Given the description of an element on the screen output the (x, y) to click on. 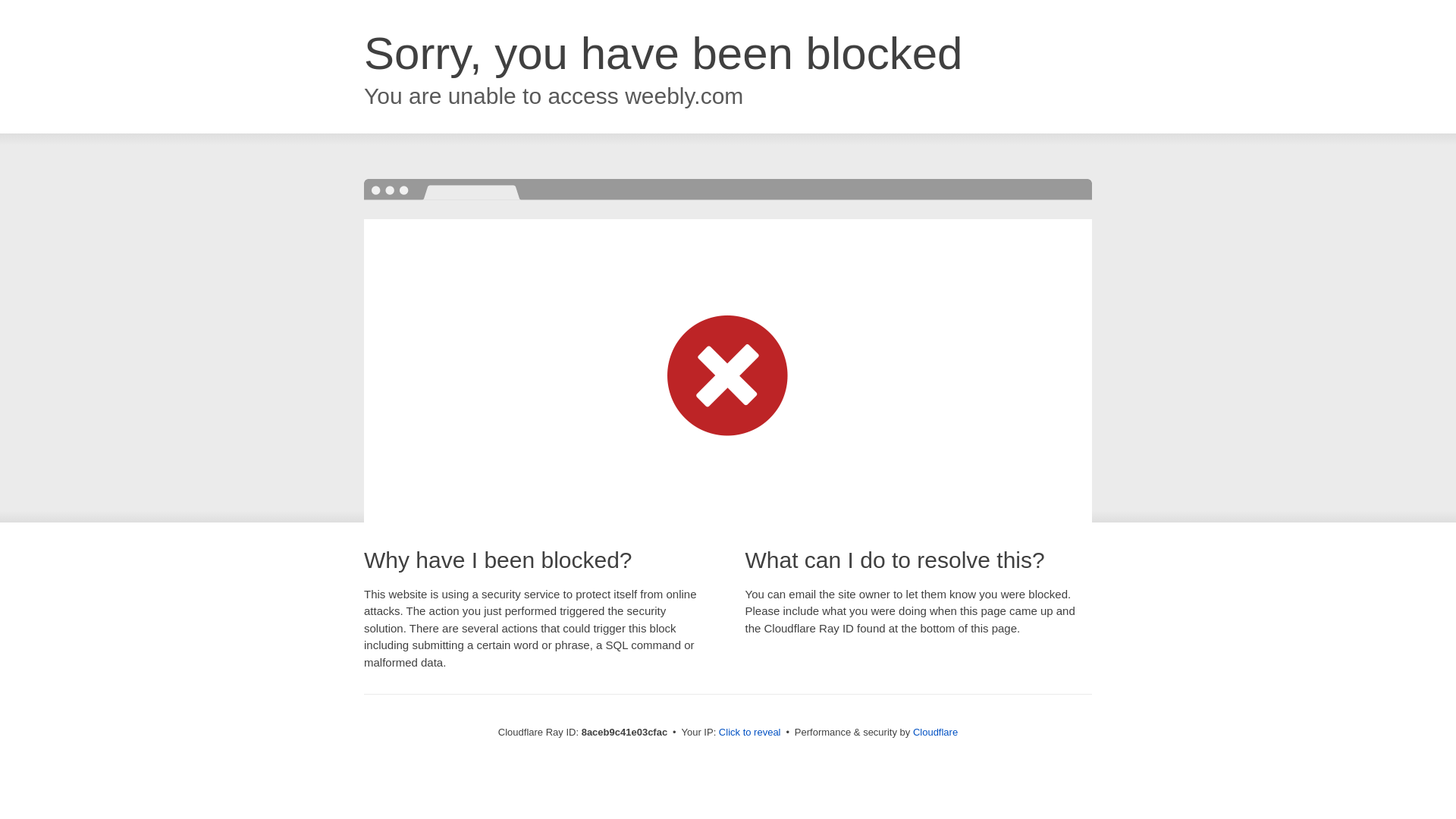
Cloudflare (935, 731)
Click to reveal (749, 732)
